Given the description of an element on the screen output the (x, y) to click on. 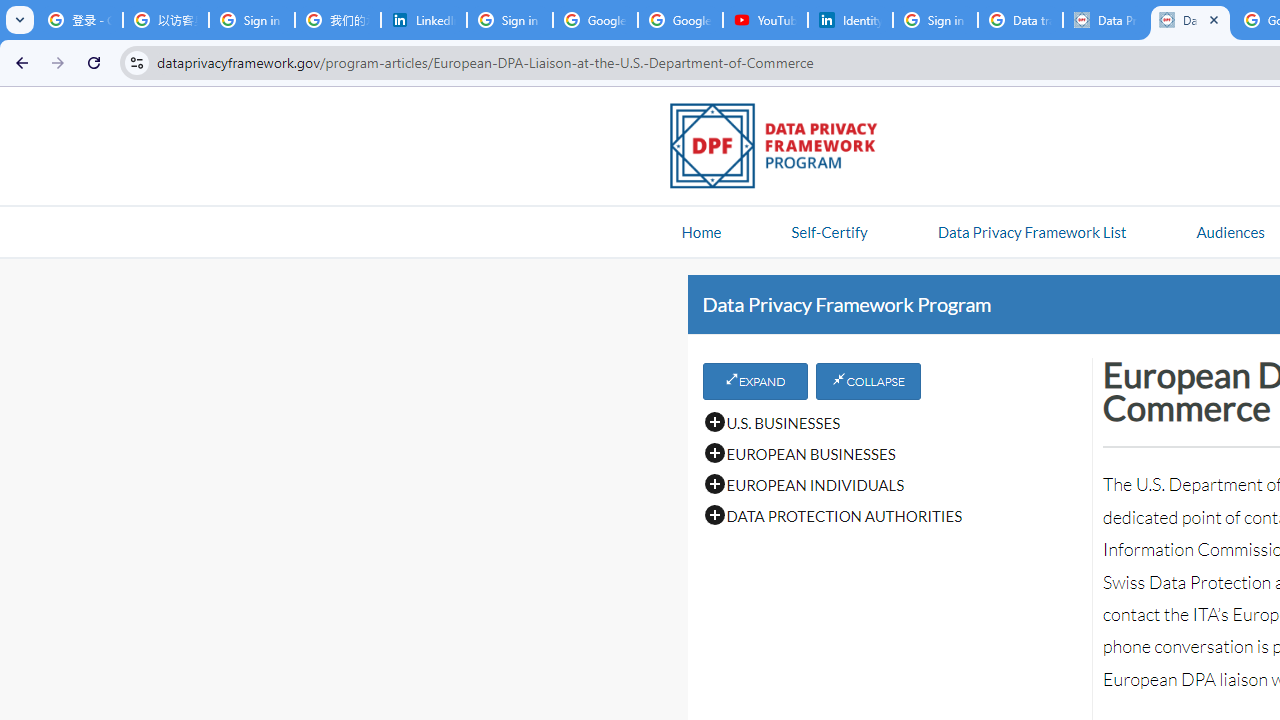
Audiences (1230, 231)
